Given the description of an element on the screen output the (x, y) to click on. 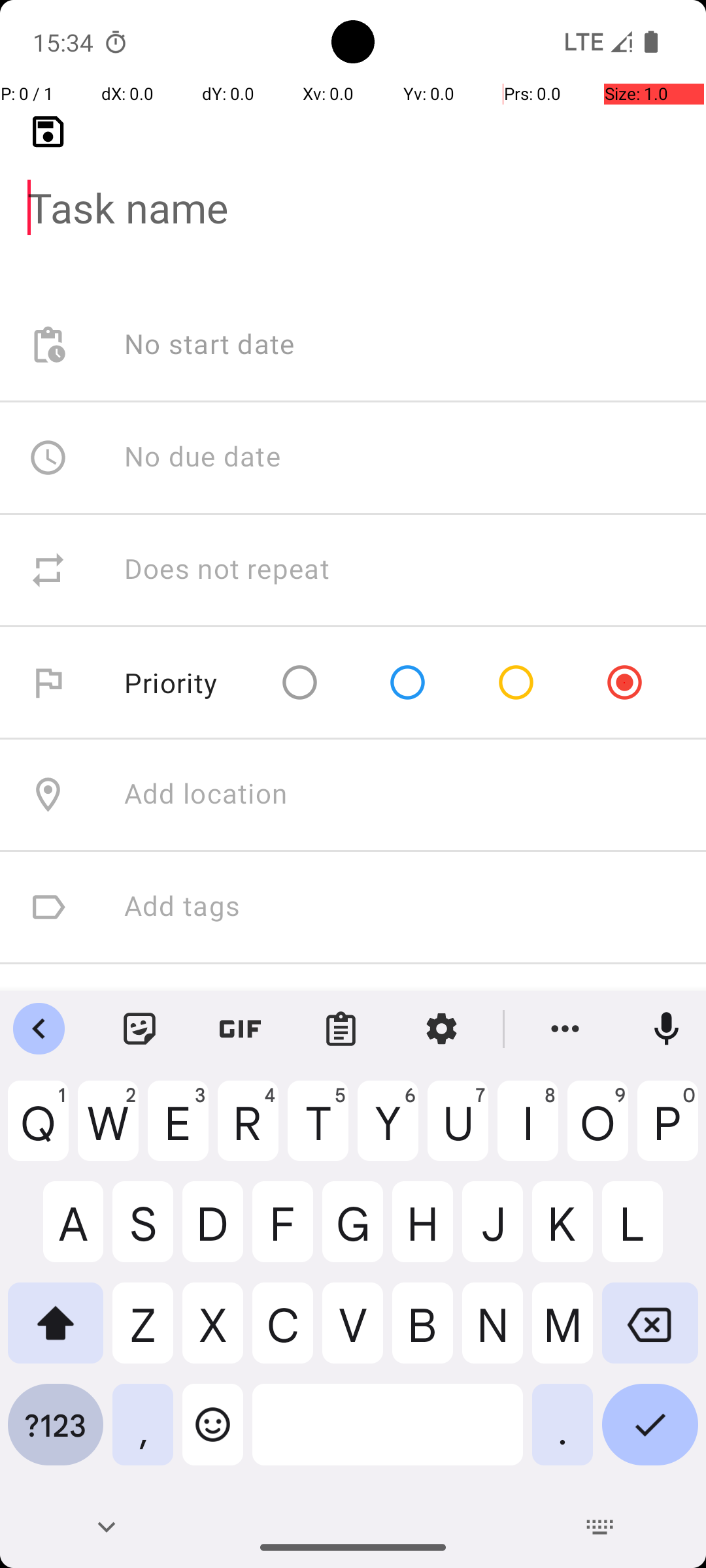
Task name Element type: android.widget.EditText (353, 186)
No due date Element type: android.widget.TextView (202, 457)
No start date Element type: android.widget.TextView (209, 344)
